Given the description of an element on the screen output the (x, y) to click on. 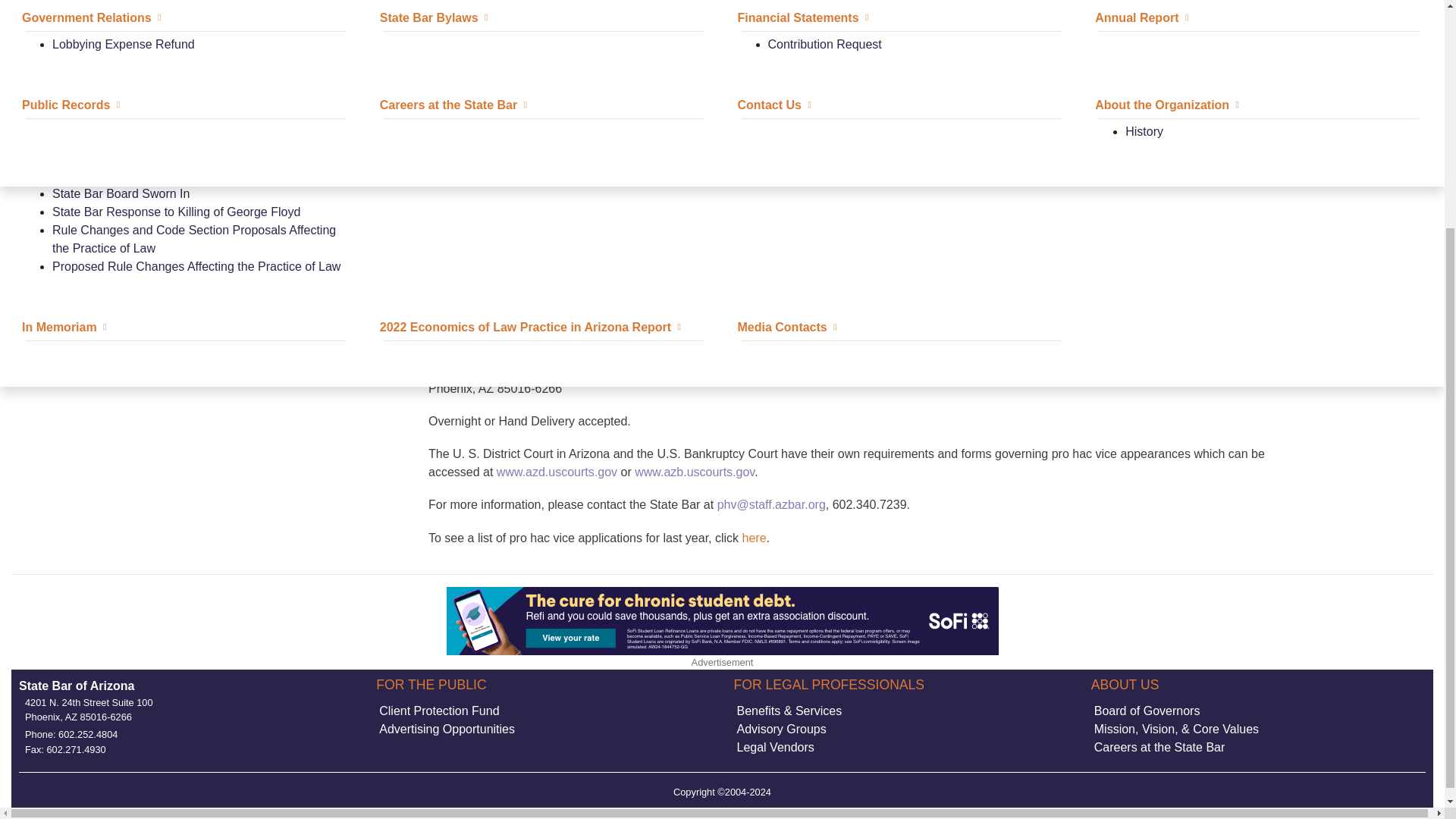
Problems with Nonlawyers (839, 80)
Fee Arbitration (69, 53)
Conservatorship Program (459, 53)
